Given the description of an element on the screen output the (x, y) to click on. 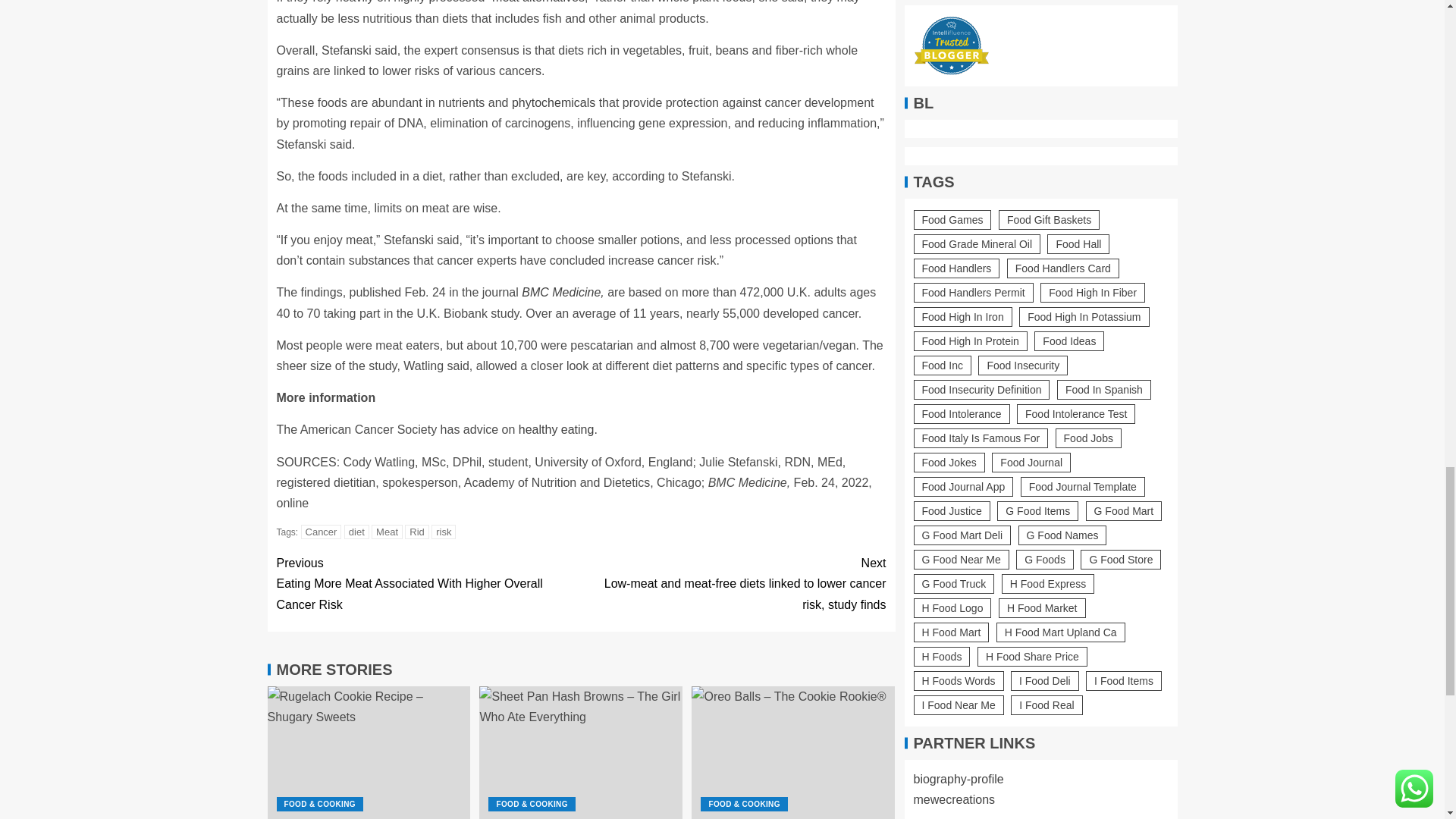
meat alternatives (538, 2)
healthy eating. (557, 429)
Meat (387, 531)
risk (442, 531)
phytochemicals (553, 102)
BMC Medicine, (562, 291)
diet (356, 531)
Rid (416, 531)
Cancer (321, 531)
